Given the description of an element on the screen output the (x, y) to click on. 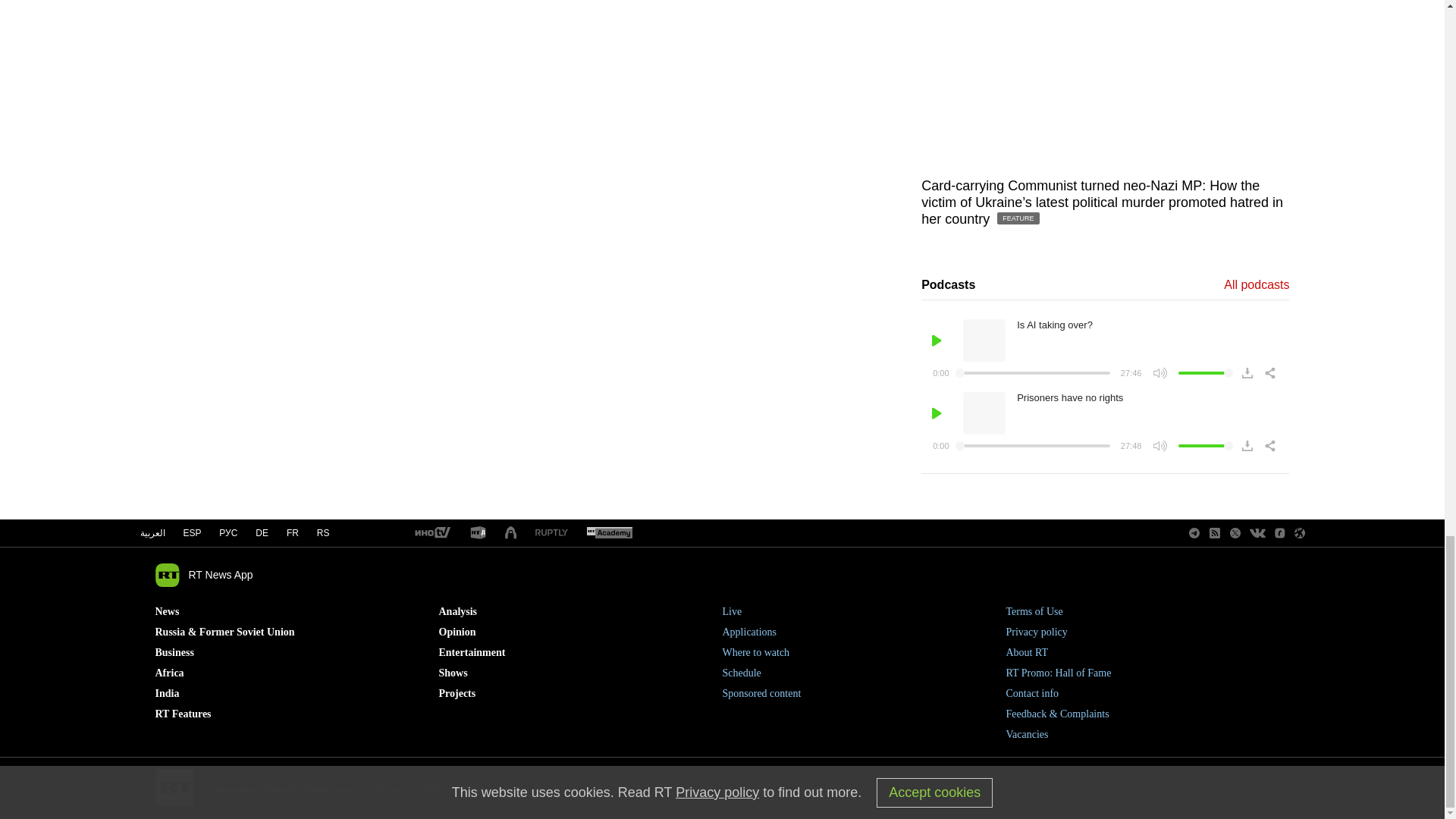
RT  (608, 533)
RT  (551, 533)
RT  (431, 533)
RT  (478, 533)
